Given the description of an element on the screen output the (x, y) to click on. 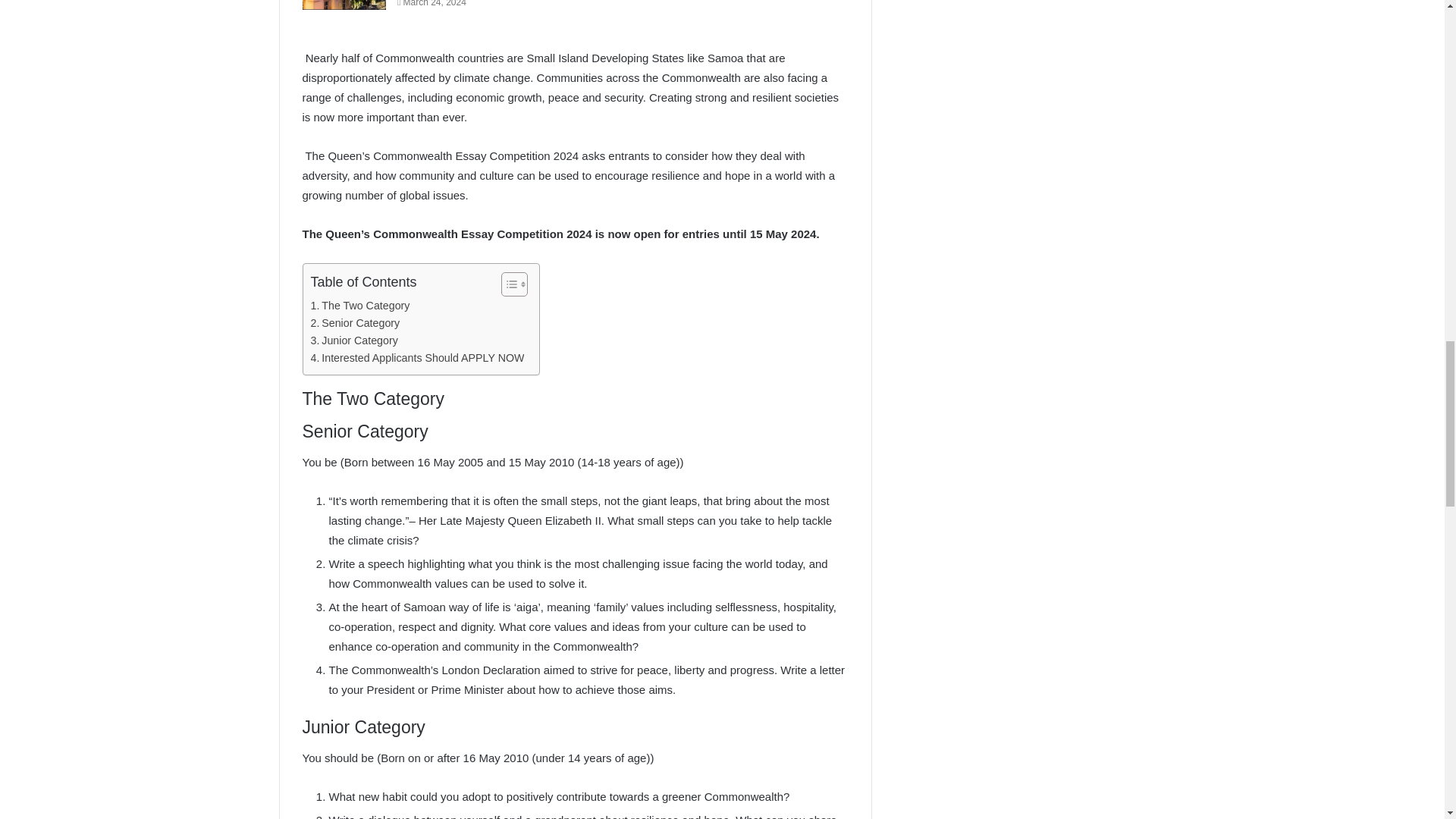
Interested Applicants Should APPLY NOW (417, 357)
The Two Category (360, 305)
Senior Category  (357, 323)
Junior Category (354, 340)
